Given the description of an element on the screen output the (x, y) to click on. 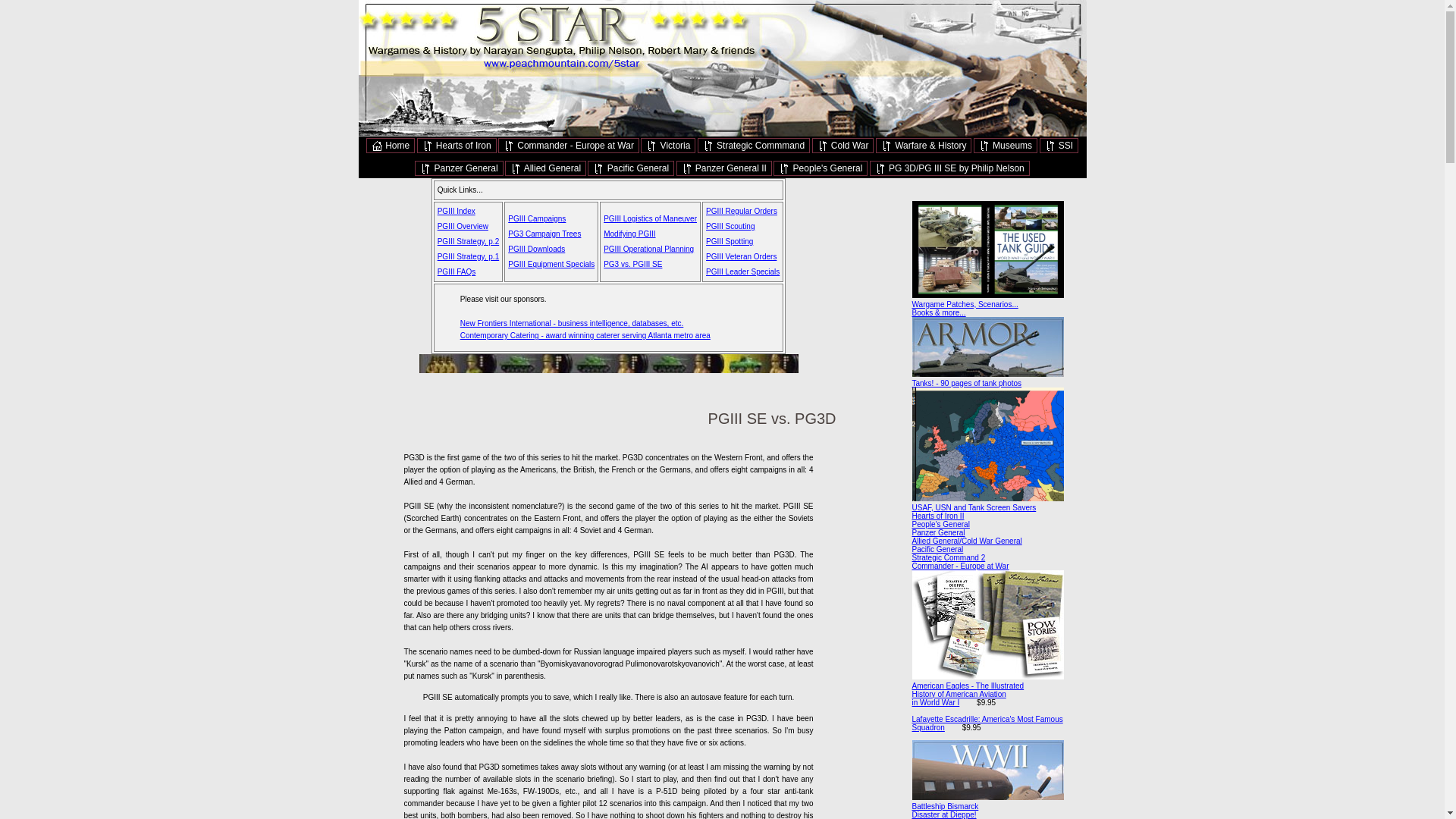
 Strategic Commmand (753, 145)
 Panzer General II (724, 168)
 Home (390, 145)
Buy Books, Games and More! (986, 249)
Tanks (986, 346)
 People's General (820, 168)
 SSI (1058, 145)
 Hearts of Iron (456, 145)
 Allied General (545, 168)
 Cold War (843, 145)
